Given the description of an element on the screen output the (x, y) to click on. 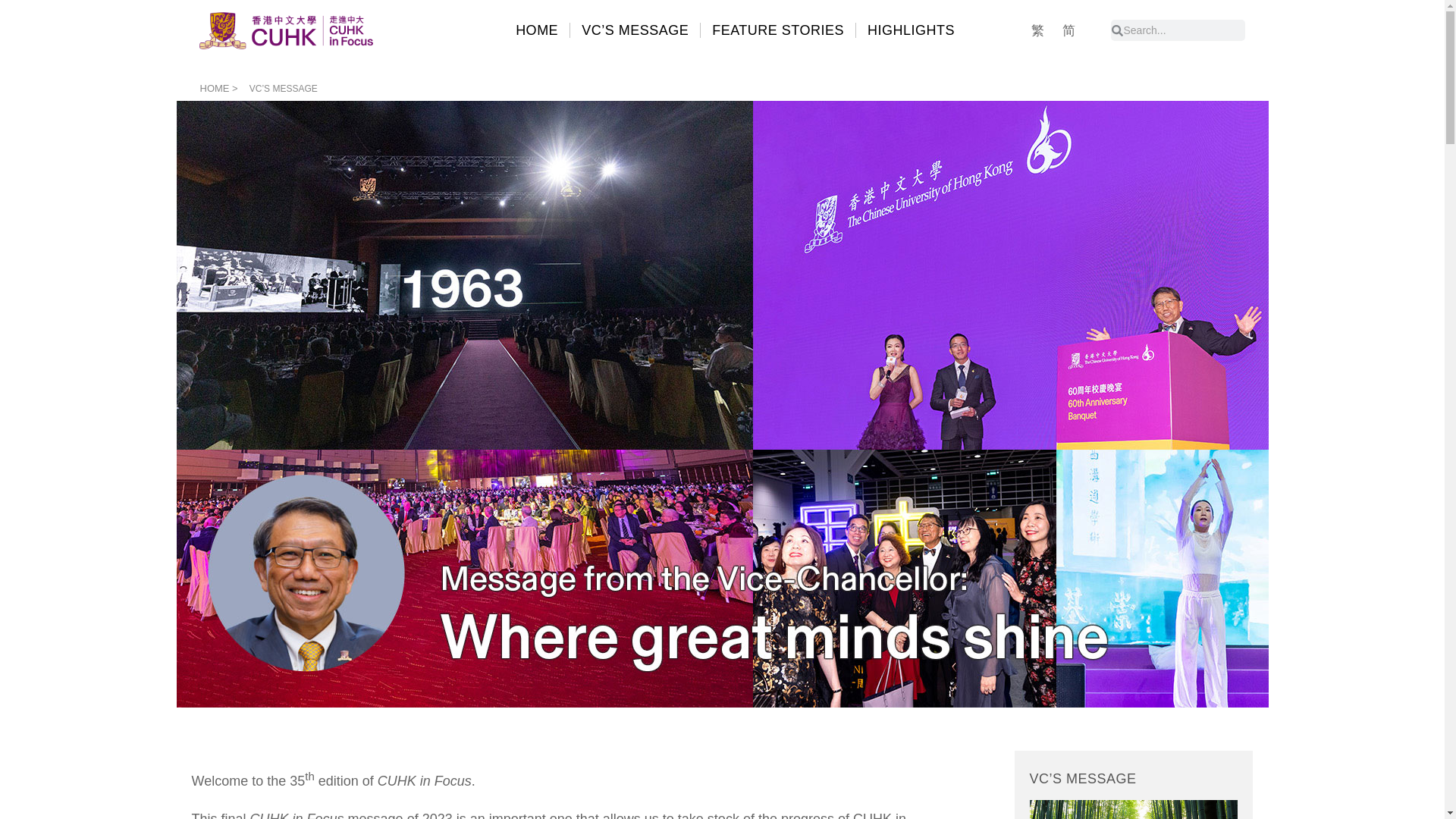
HOME (536, 30)
FEATURE STORIES (777, 30)
HIGHLIGHTS (911, 30)
